Given the description of an element on the screen output the (x, y) to click on. 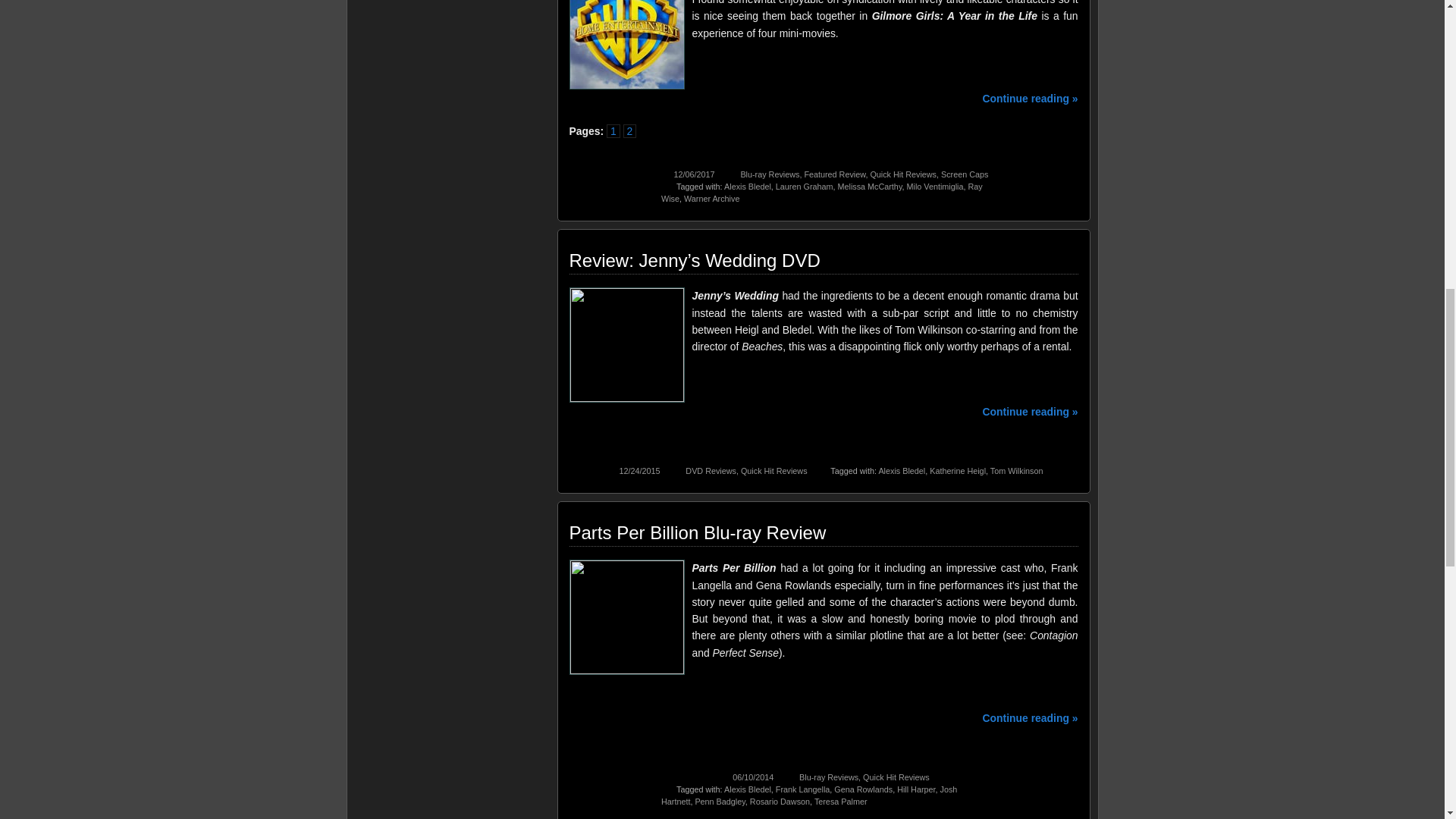
Parts Per Billion Blu-ray Review (626, 616)
Parts Per Billion Blu-ray Review (697, 532)
Gilmore Girls: A Year in the Life Blu-ray Review (626, 44)
Jenny's Wedding DVD Review (626, 344)
